Given the description of an element on the screen output the (x, y) to click on. 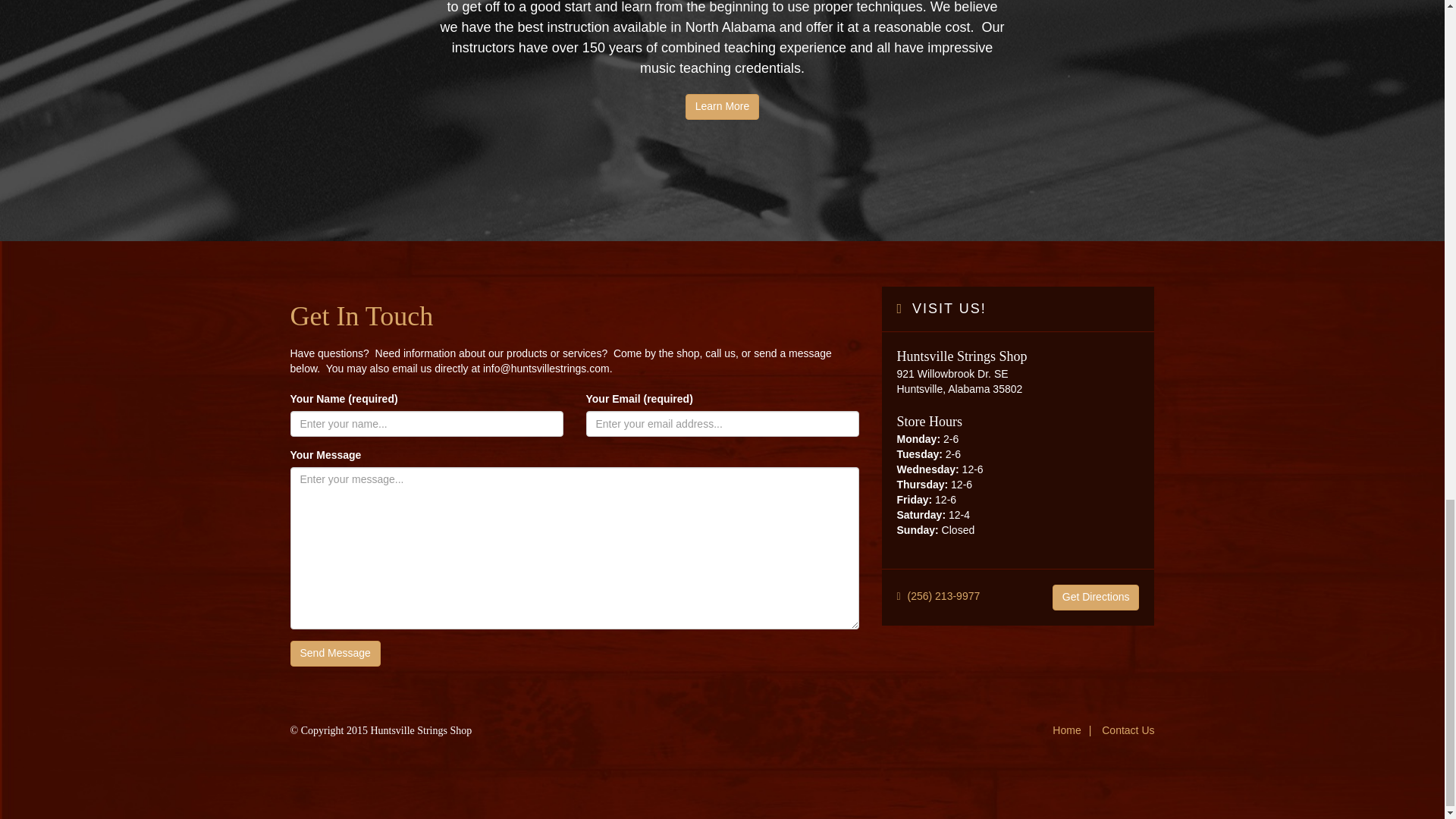
Send Message (334, 653)
Get Directions (1096, 597)
Learn More (722, 106)
Contact Us (1124, 729)
Send Message (334, 653)
Home (1066, 729)
